Given the description of an element on the screen output the (x, y) to click on. 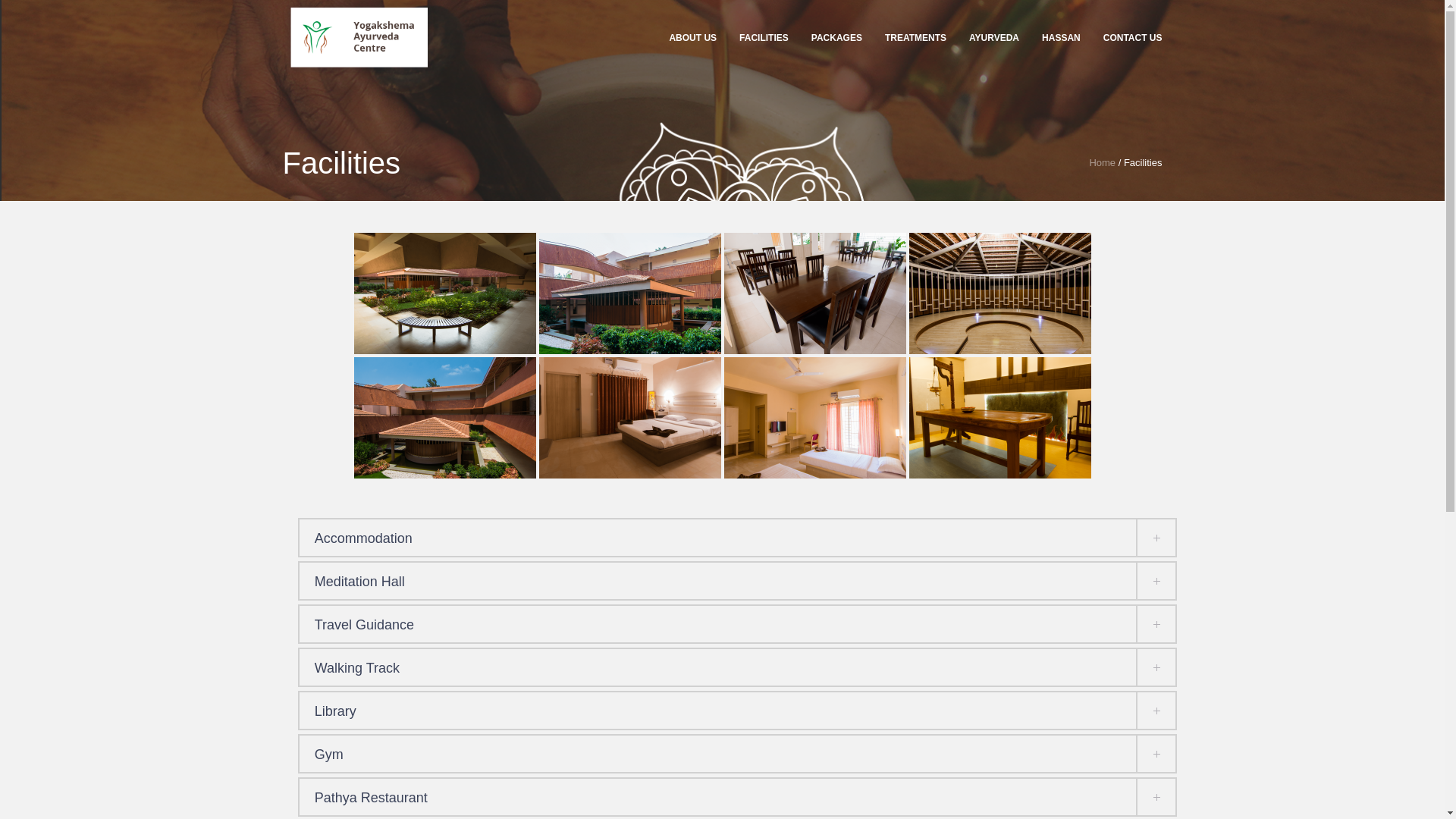
insdeview (444, 417)
Pathya Restaurant (737, 796)
Library (737, 710)
singleroom (814, 417)
PACKAGES (836, 37)
AYURVEDA (994, 37)
Home (1102, 162)
TREATMENTS (915, 37)
kingsroom (629, 417)
dininghall (814, 292)
ABOUT US (693, 37)
massage-room- (999, 417)
bench (444, 292)
CONTACT US (1126, 37)
closeupofhall (629, 292)
